Given the description of an element on the screen output the (x, y) to click on. 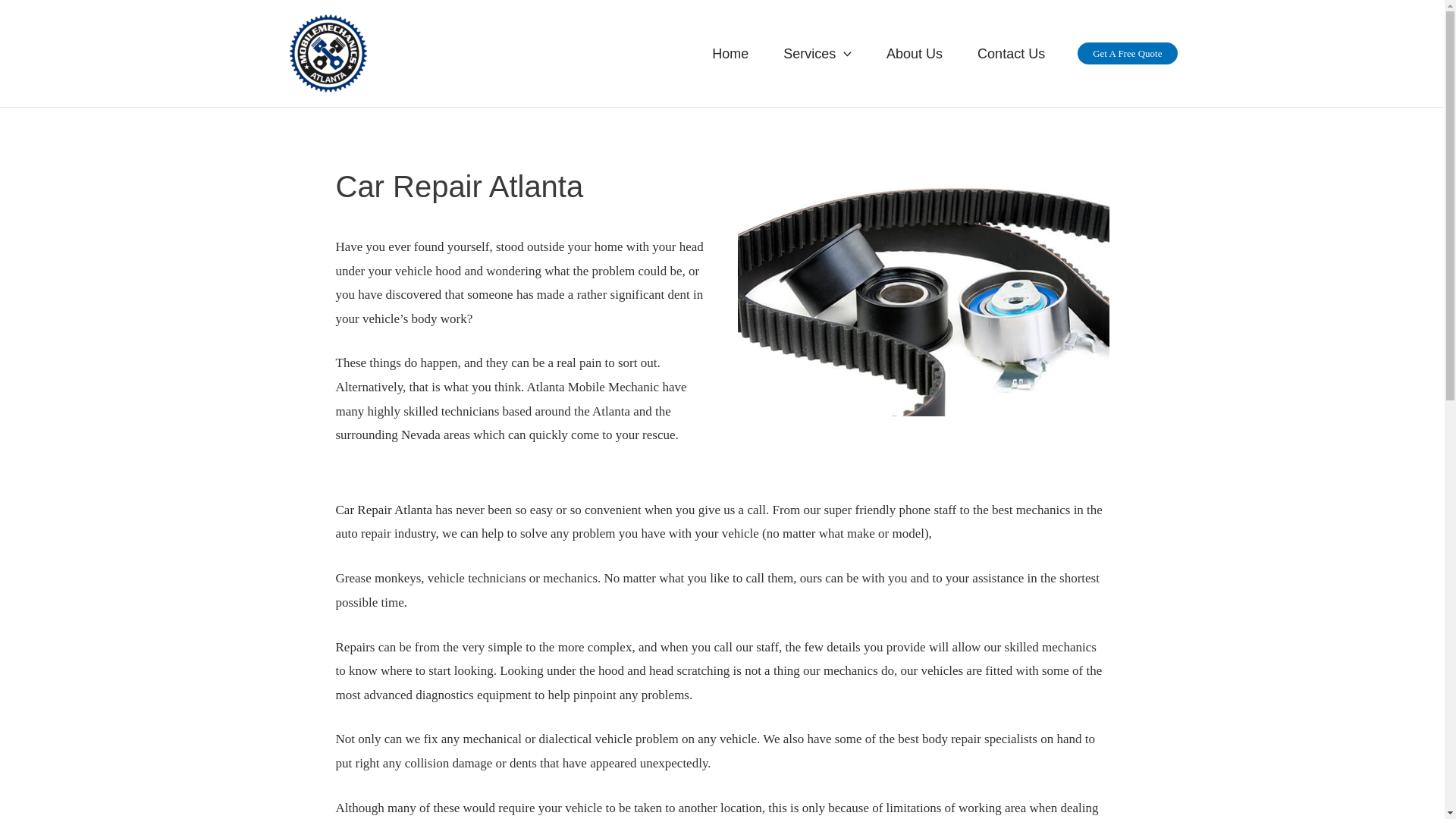
Services (817, 53)
Home (729, 53)
timing-belt-removal-in-atlanta (922, 292)
Get A Free Quote (1126, 53)
About Us (914, 53)
Contact Us (1010, 53)
Car Repair Atlanta (382, 509)
